Given the description of an element on the screen output the (x, y) to click on. 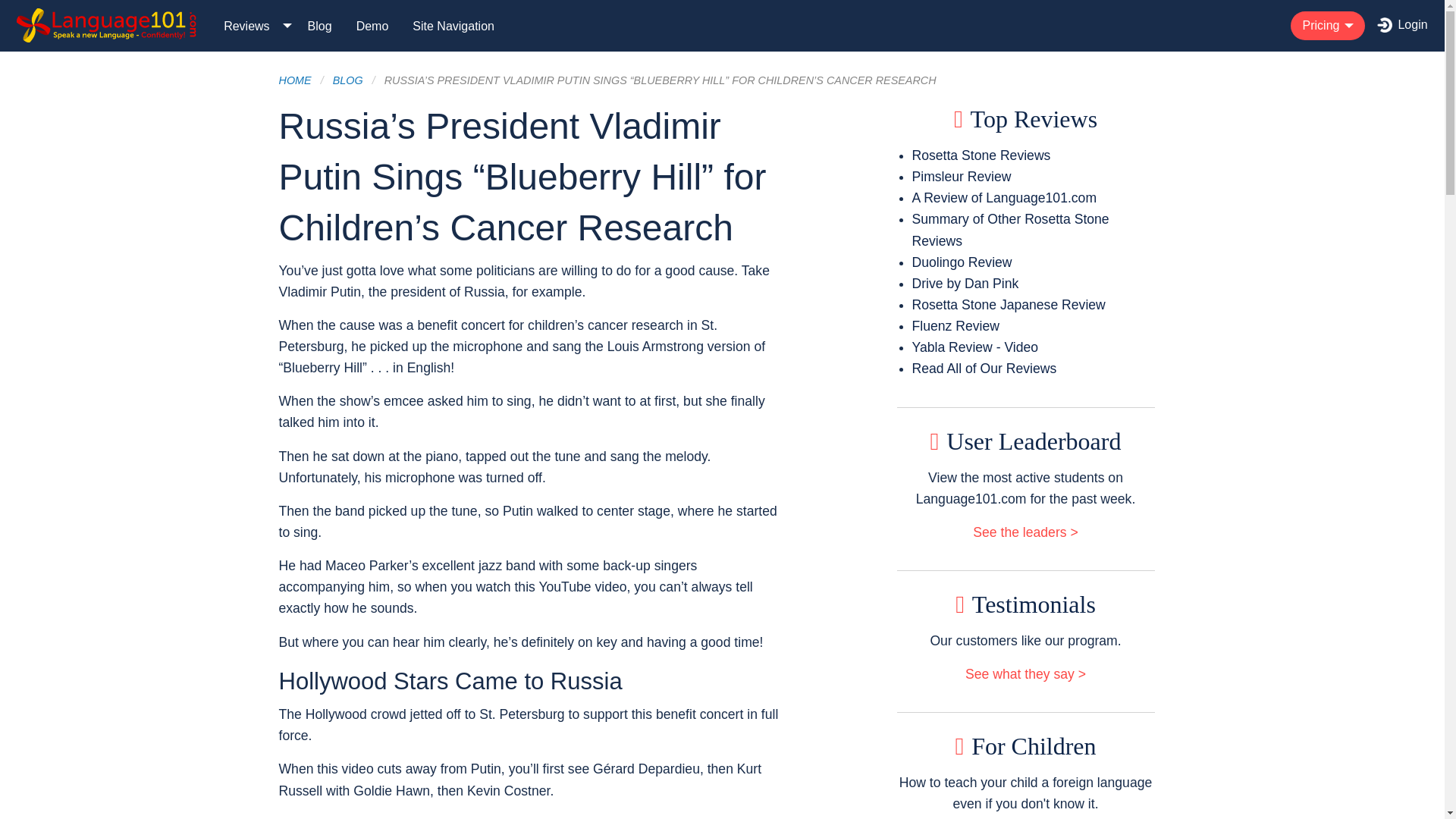
Login (1402, 25)
Demo (372, 24)
HOME (295, 80)
Pimsleur Review (961, 176)
Rosetta Stone Reviews (981, 155)
Top Reviews (1025, 118)
Pricing (1327, 25)
Reviews (253, 24)
Site Navigation (453, 24)
BLOG (347, 80)
A Review of Language101.com (1004, 197)
Blog (319, 24)
Summary of Other Rosetta Stone Reviews (1010, 229)
